Given the description of an element on the screen output the (x, y) to click on. 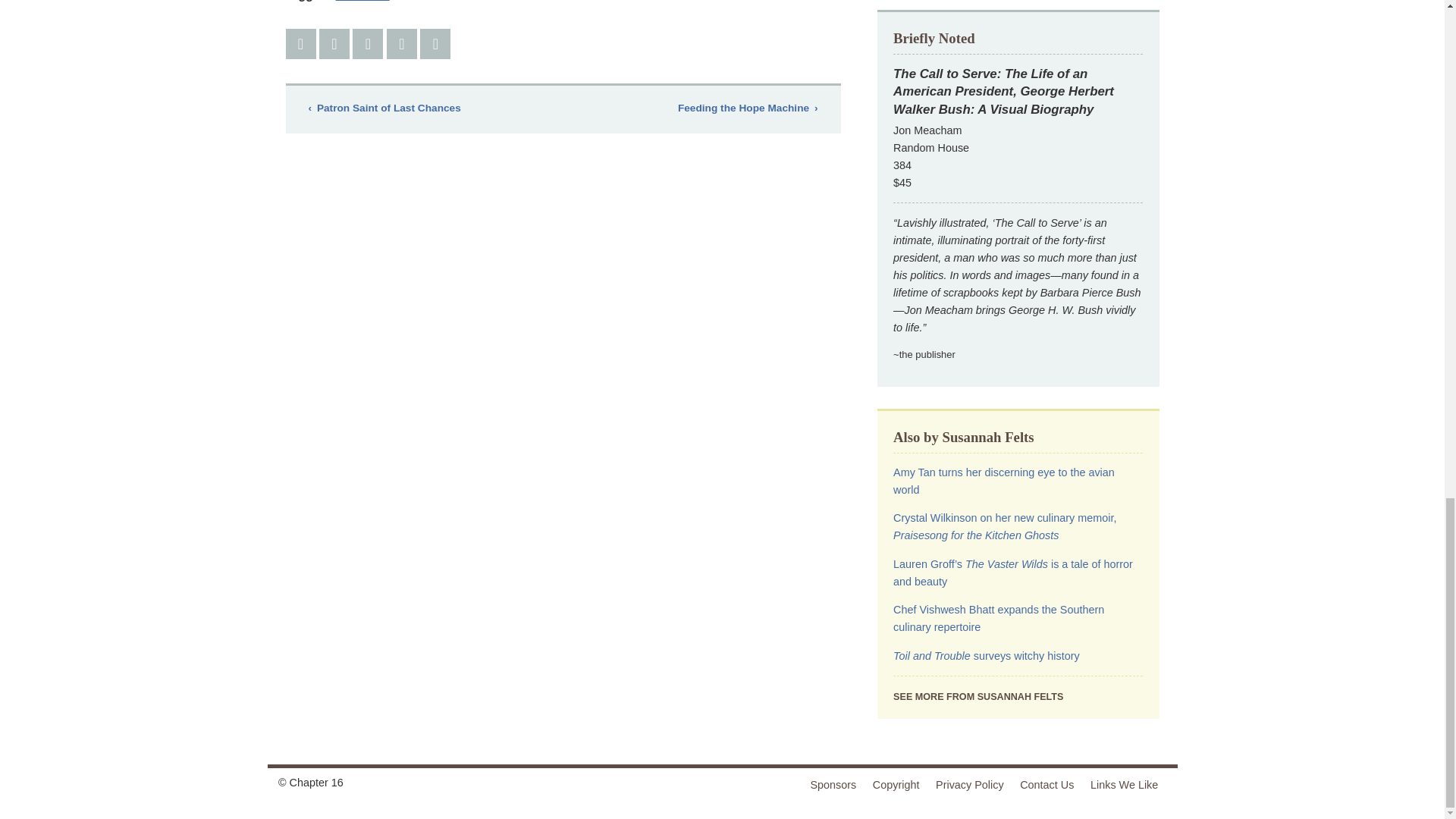
Nonfiction (363, 0)
Email (401, 43)
Tweet (333, 43)
Share on Facebook (300, 43)
Patron Saint of Last Chances (384, 107)
Feeding the Hope Machine (747, 107)
Print (434, 43)
